Given the description of an element on the screen output the (x, y) to click on. 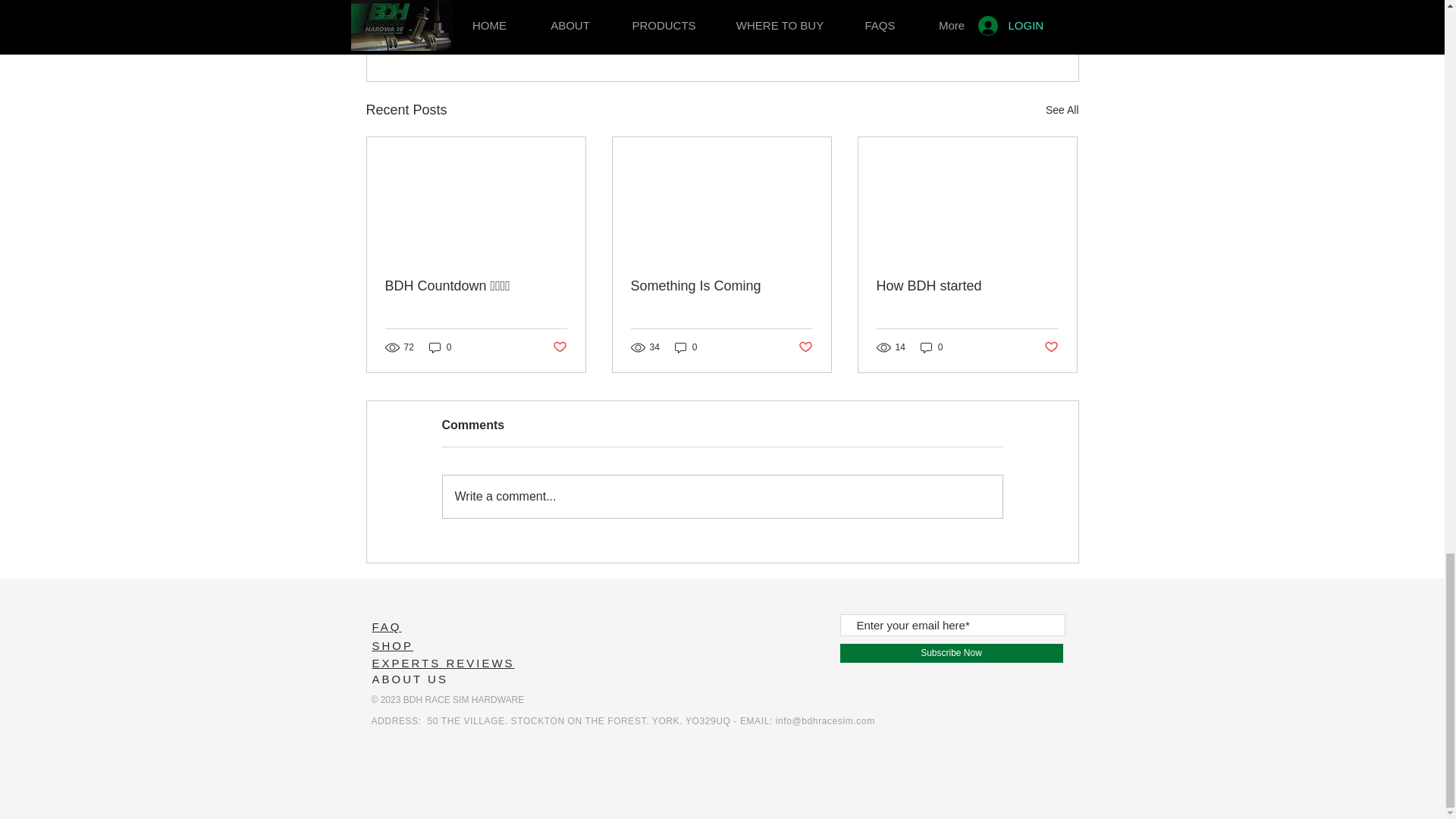
0 (685, 347)
Post not marked as liked (558, 346)
Post not marked as liked (804, 346)
EXPERTS REVIEWS (442, 662)
Write a comment... (722, 496)
How BDH started (967, 286)
0 (990, 27)
Post not marked as liked (440, 347)
FAQ (1050, 346)
0 (386, 626)
Subscribe Now (931, 347)
See All (951, 652)
Something Is Coming (1061, 110)
SHOP (721, 286)
